Given the description of an element on the screen output the (x, y) to click on. 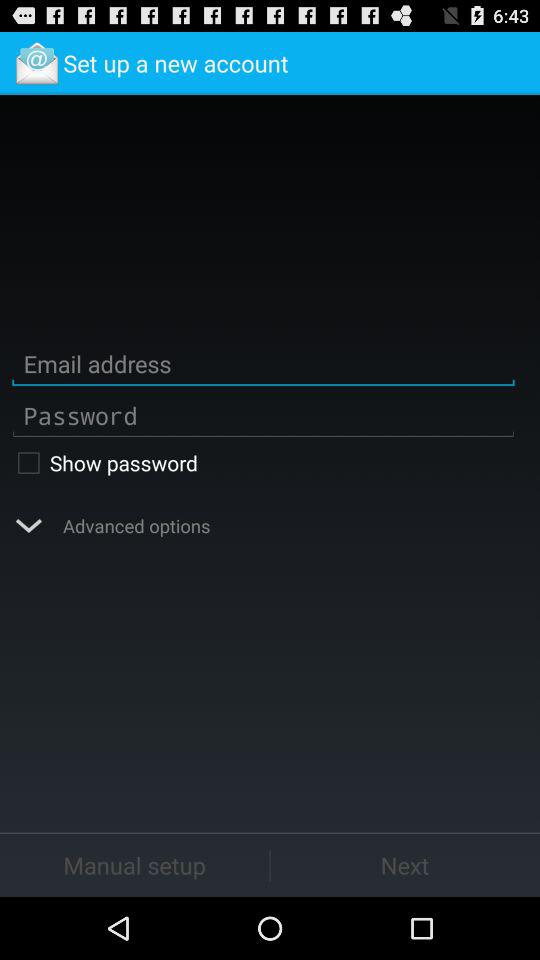
enter email (263, 364)
